Given the description of an element on the screen output the (x, y) to click on. 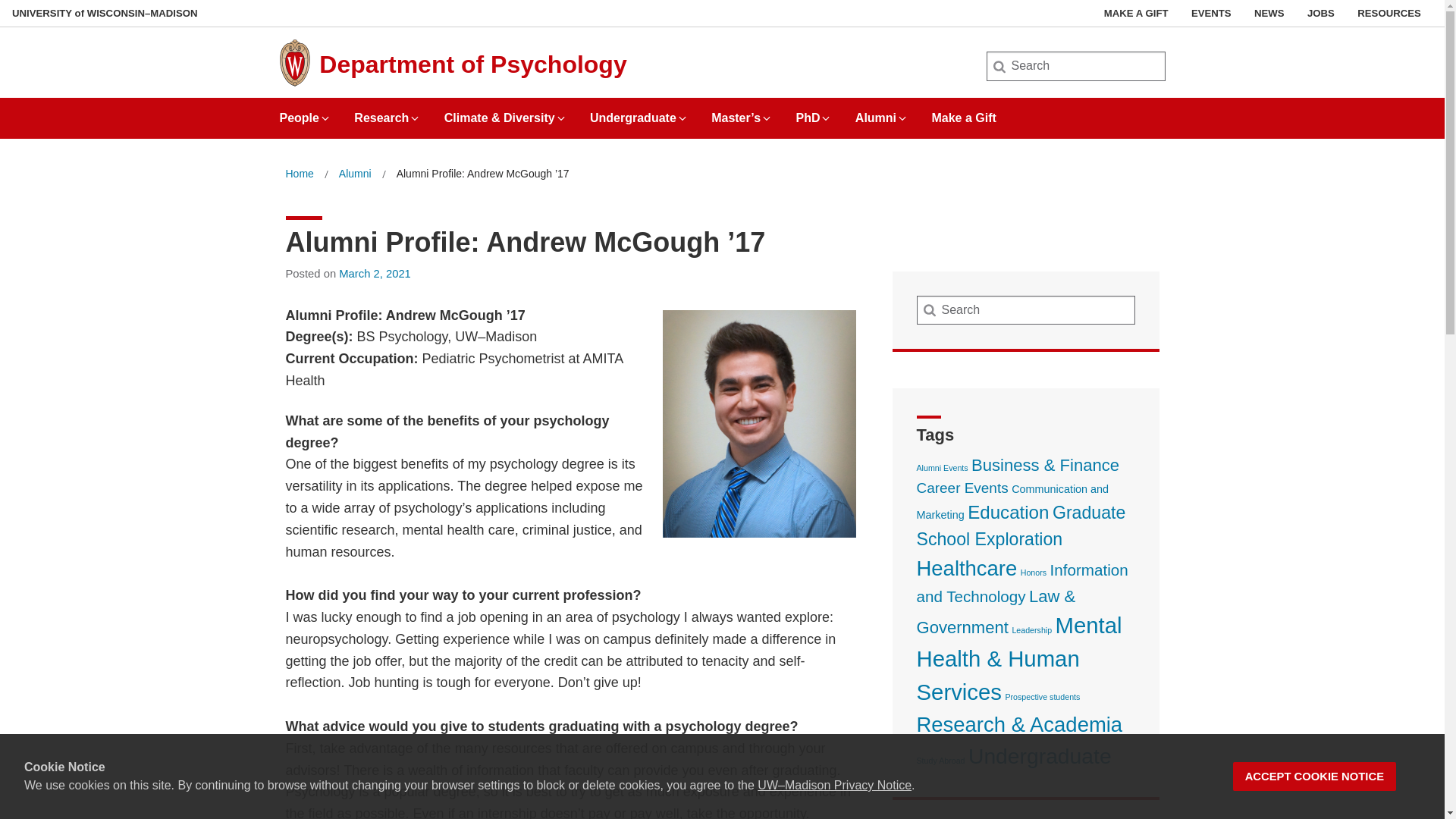
Undergraduate Expand (638, 112)
Department of Psychology (472, 63)
Skip to main content (3, 3)
Home (299, 173)
People Expand (304, 112)
ACCEPT COOKIE NOTICE (1314, 776)
Expand (766, 118)
Alumni (355, 173)
Expand (324, 118)
Expand (902, 118)
